Given the description of an element on the screen output the (x, y) to click on. 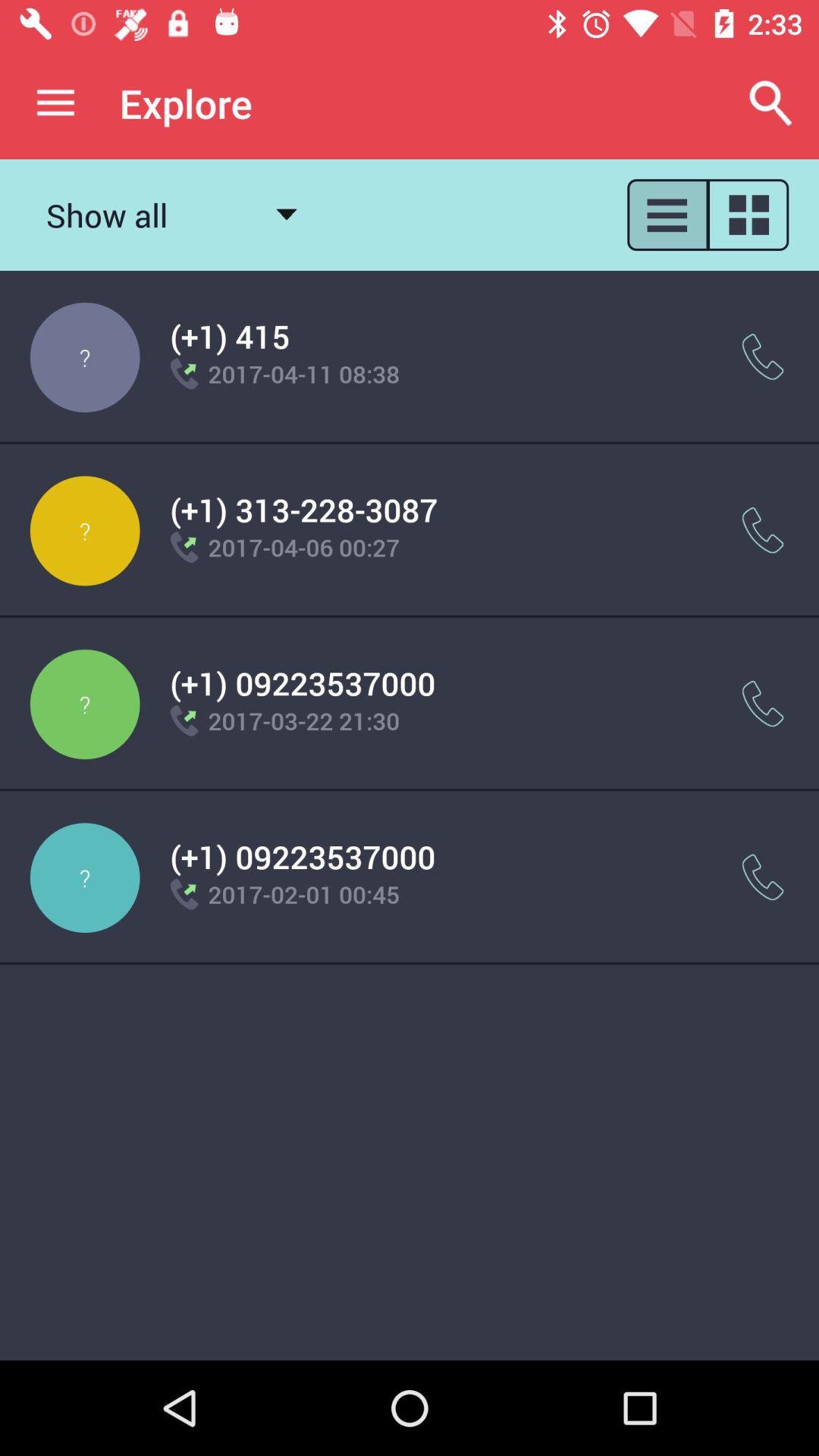
open icon above show all (55, 103)
